Given the description of an element on the screen output the (x, y) to click on. 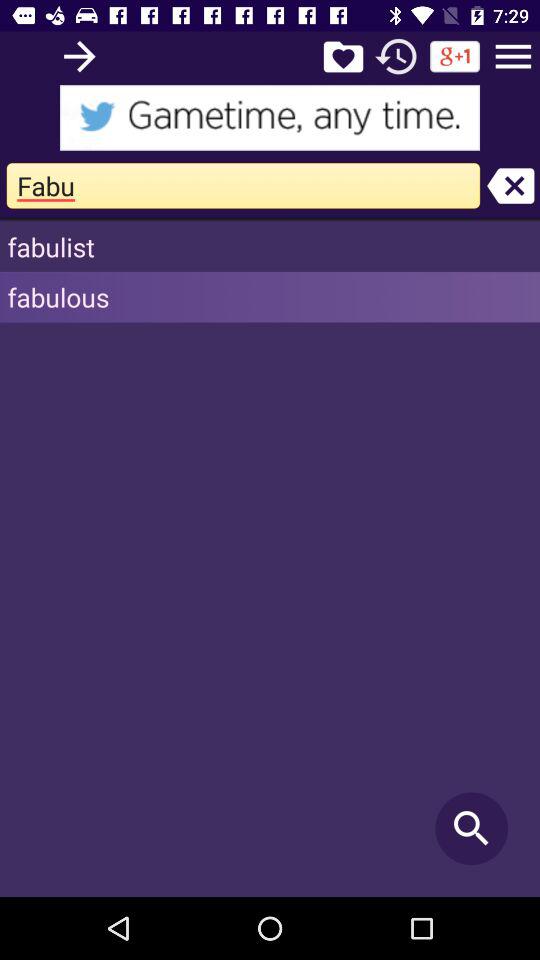
favourite search (343, 56)
